Given the description of an element on the screen output the (x, y) to click on. 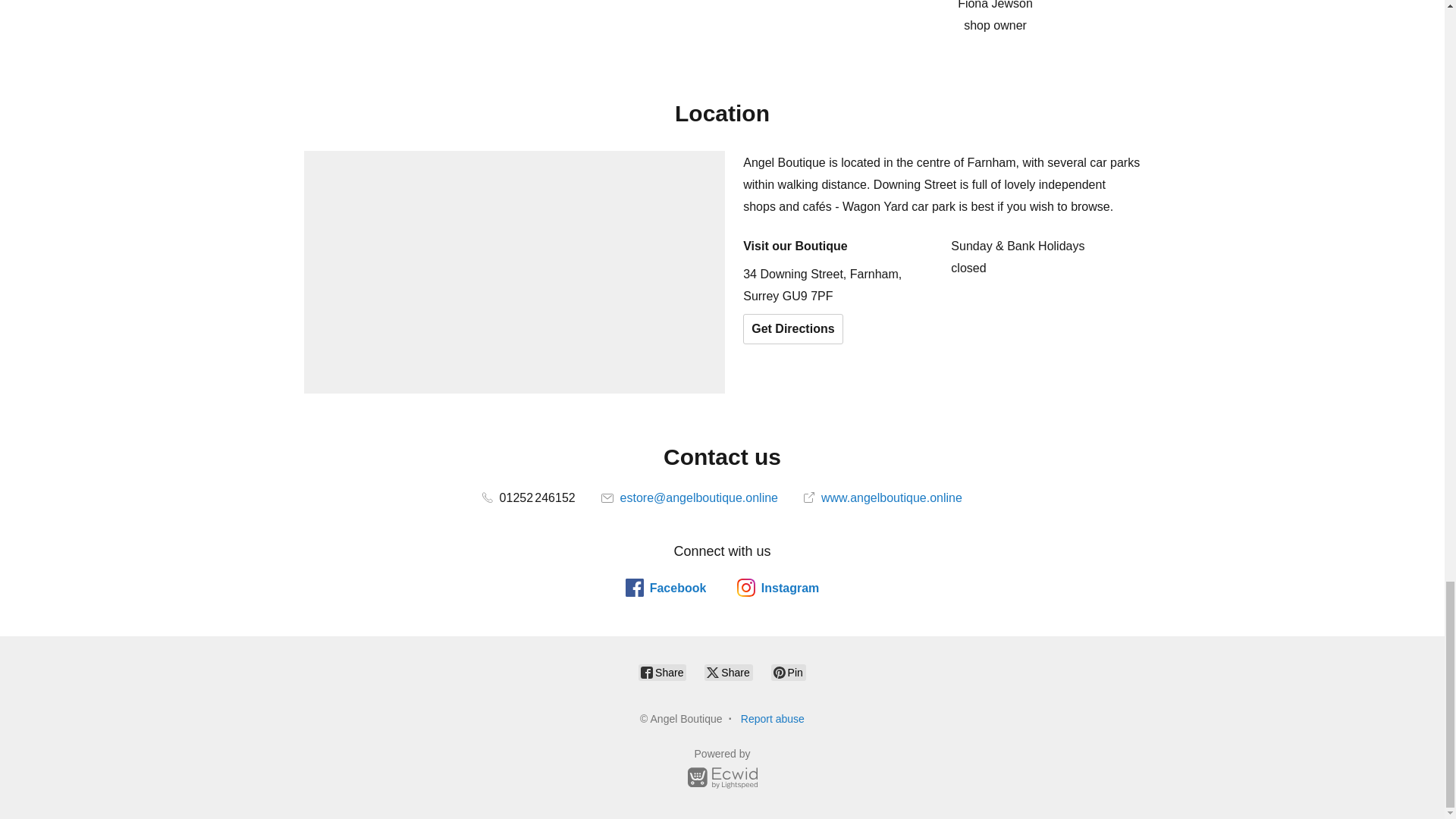
Get Directions (792, 328)
Share (728, 672)
Instagram (777, 587)
Pin (788, 672)
www.angelboutique.online (881, 497)
Facebook (666, 587)
Share (662, 672)
Powered by (722, 770)
Location on map (513, 271)
